Given the description of an element on the screen output the (x, y) to click on. 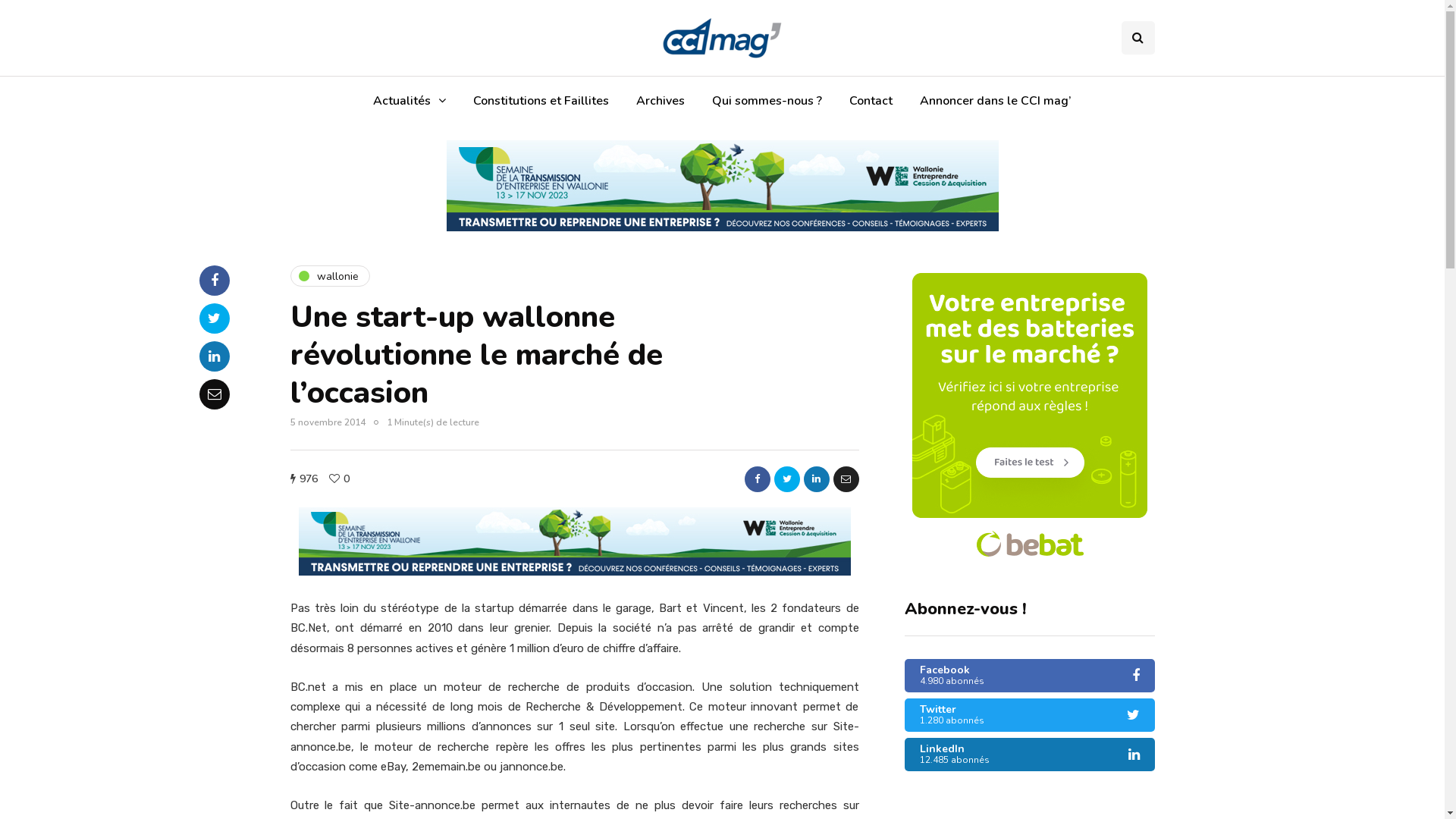
Share by Email Element type: hover (213, 394)
Share with LinkedIn Element type: hover (213, 356)
Share with LinkedIn Element type: hover (816, 478)
Share with Facebook Element type: hover (757, 478)
Archives Element type: text (660, 100)
wallonie Element type: text (329, 275)
Tweet this Element type: hover (786, 478)
Constitutions et Faillites Element type: text (540, 100)
Share by Email Element type: hover (845, 478)
Share with Facebook Element type: hover (213, 280)
Qui sommes-nous ? Element type: text (766, 100)
Contact Element type: text (870, 100)
Tweet this Element type: hover (213, 318)
